Given the description of an element on the screen output the (x, y) to click on. 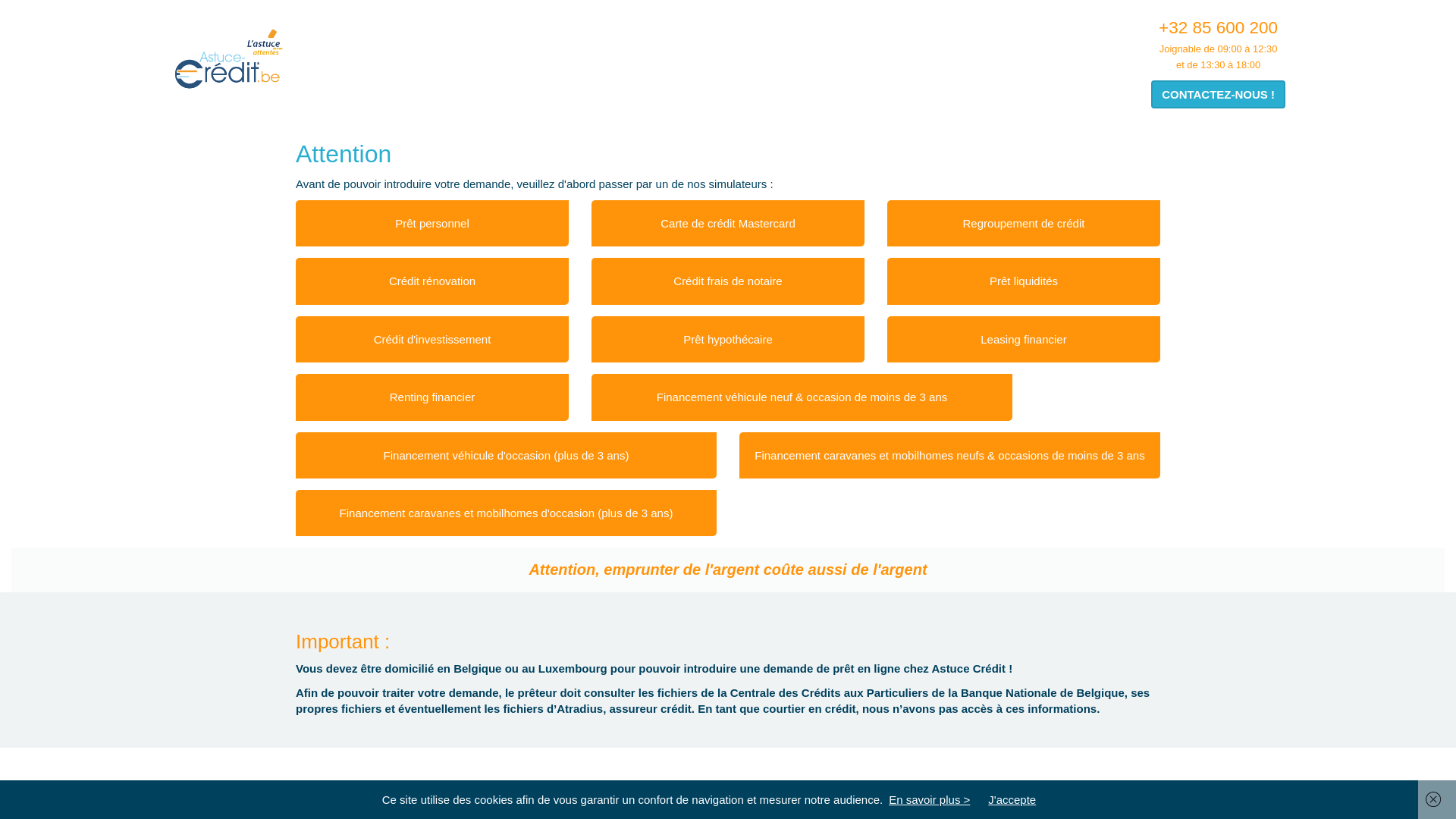
CONTACTEZ-NOUS ! Element type: text (1218, 94)
Leasing financier Element type: text (1023, 339)
+32 85 600 200 Element type: text (1217, 27)
Renting financier Element type: text (431, 396)
En savoir plus > Element type: text (928, 799)
J'accepte Element type: text (1011, 799)
